Given the description of an element on the screen output the (x, y) to click on. 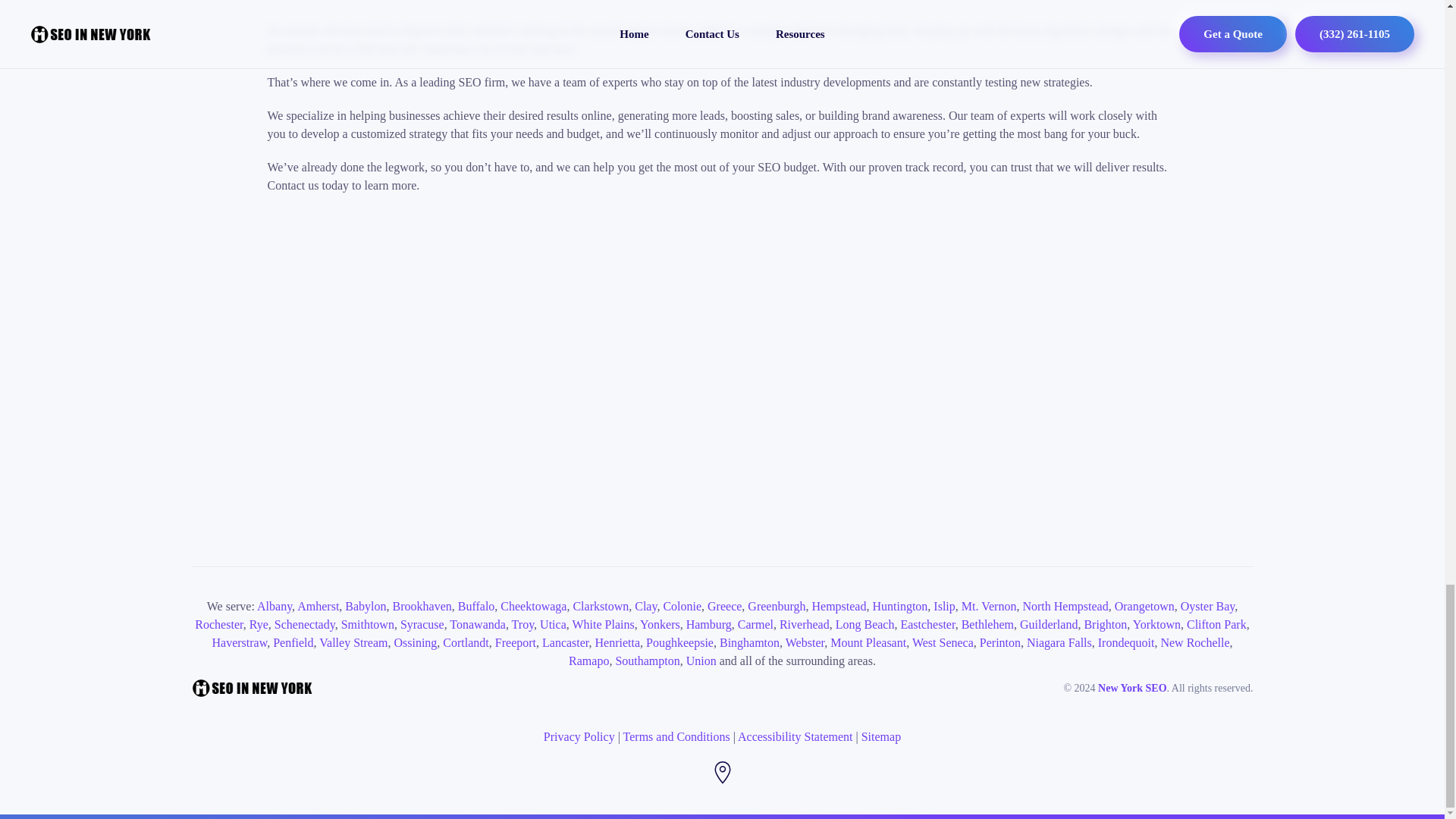
Mt. Vernon (988, 605)
Islip (944, 605)
Huntington (899, 605)
Greenburgh (776, 605)
Amherst (318, 605)
Cheektowaga (533, 605)
Babylon (365, 605)
Colonie (681, 605)
Clarkstown (600, 605)
Albany (274, 605)
Hempstead (838, 605)
Brookhaven (422, 605)
Greece (724, 605)
Buffalo (476, 605)
Clay (645, 605)
